Given the description of an element on the screen output the (x, y) to click on. 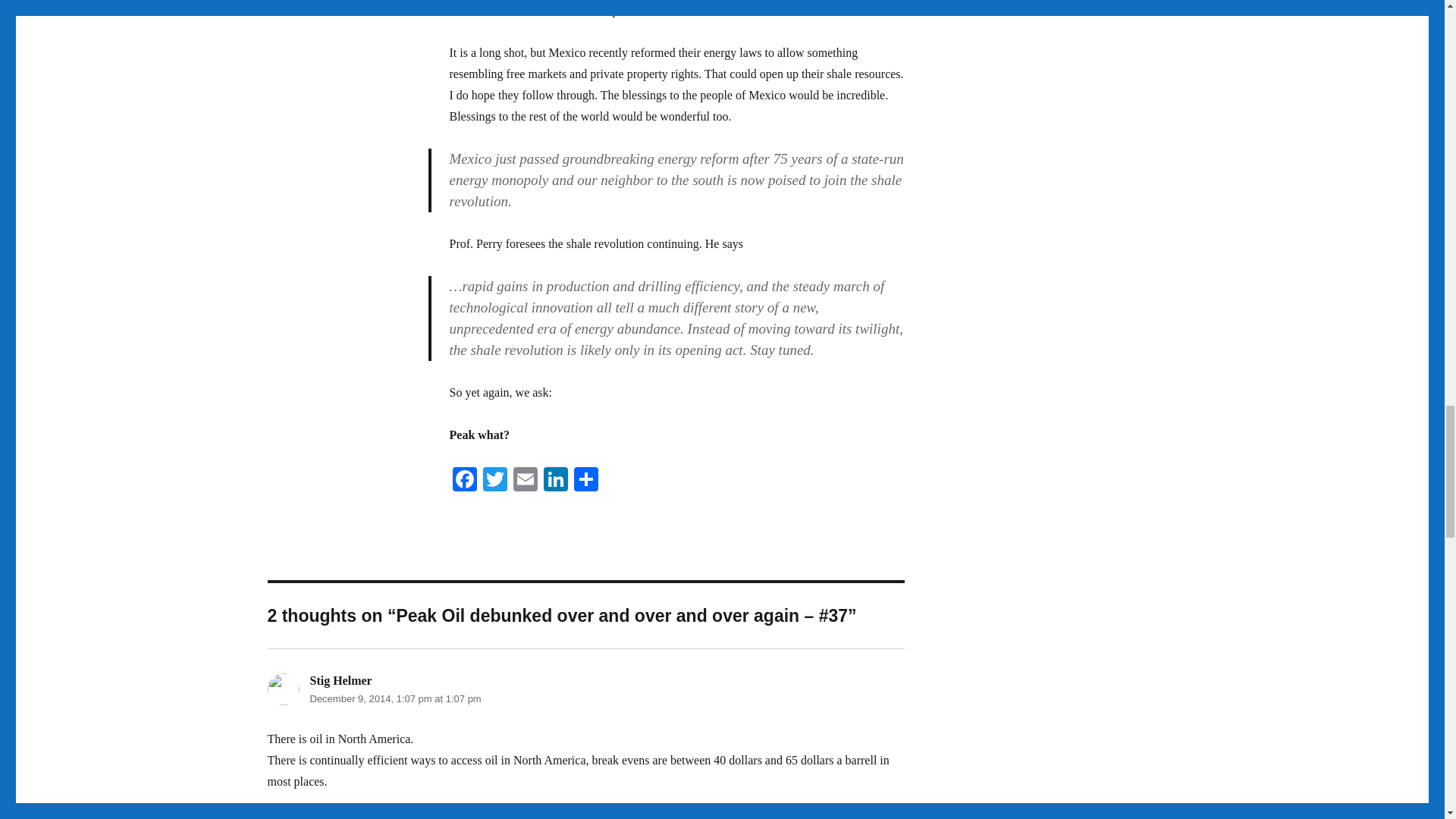
December 9, 2014, 1:07 pm at 1:07 pm (394, 698)
Facebook (463, 480)
LinkedIn (555, 480)
Twitter (494, 480)
Email (524, 480)
Twitter (494, 480)
Facebook (463, 480)
LinkedIn (555, 480)
Email (524, 480)
